Given the description of an element on the screen output the (x, y) to click on. 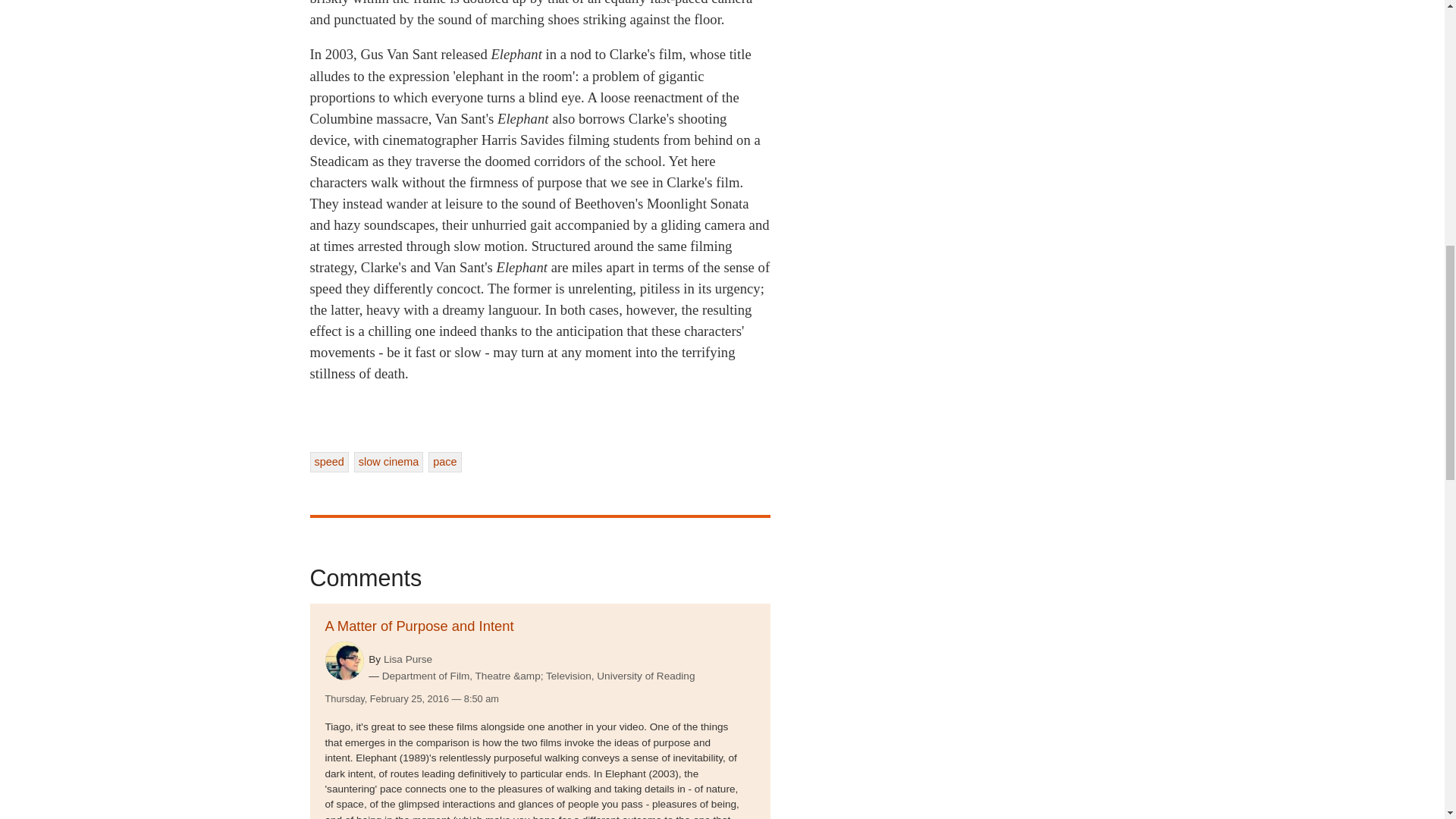
pace (444, 461)
speed (327, 461)
A Matter of Purpose and Intent (418, 625)
Lisa Purse (408, 659)
View user profile. (343, 660)
User profile: Lisa Purse (408, 659)
slow cinema (388, 461)
